Given the description of an element on the screen output the (x, y) to click on. 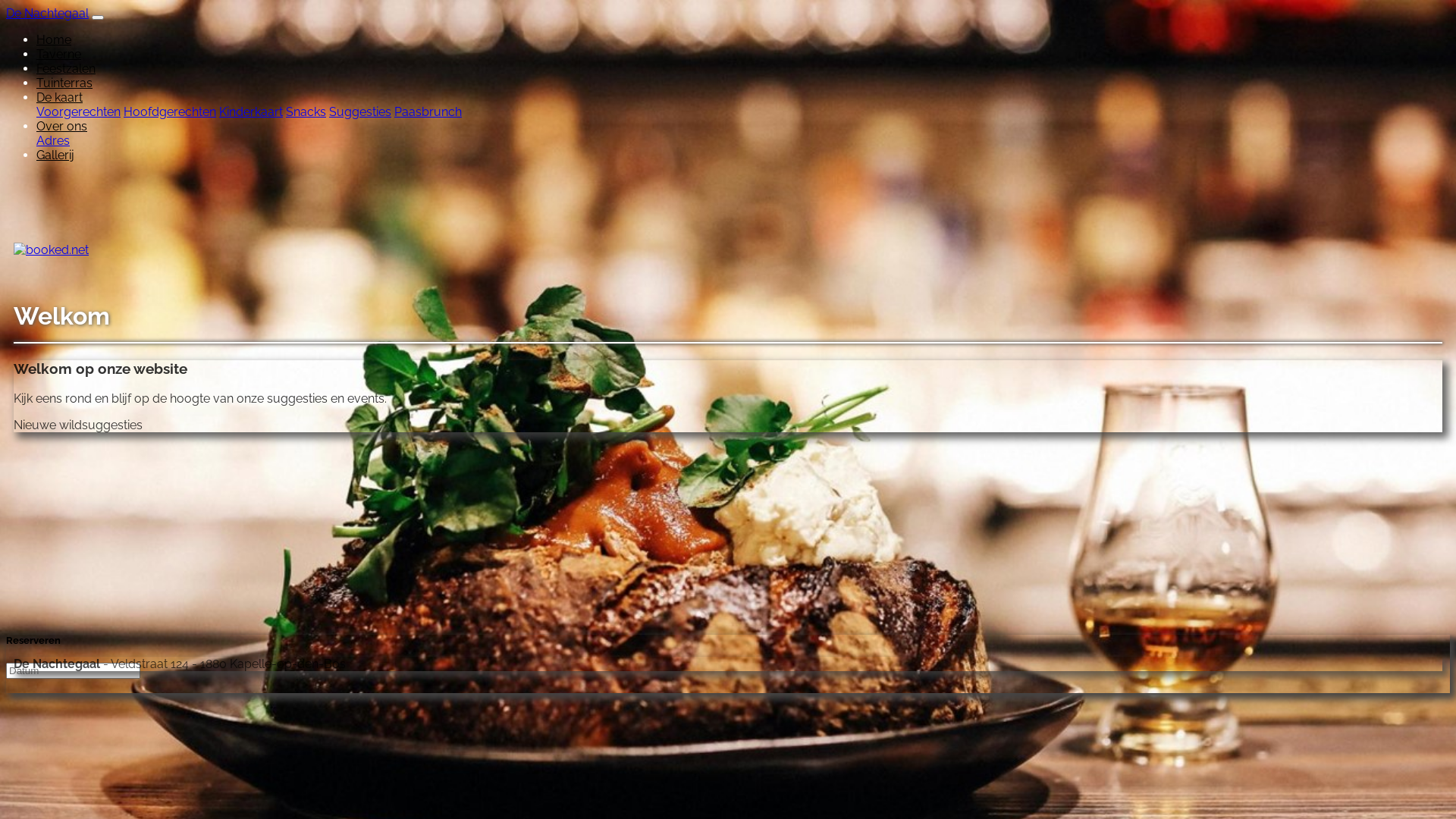
Advertisement Element type: hover (468, 550)
Tuinterras Element type: text (64, 82)
Feestzalen Element type: text (65, 68)
Paasbrunch Element type: text (427, 111)
De Nachtegaal Element type: text (47, 13)
Over ons Element type: text (61, 126)
Snacks Element type: text (305, 111)
Voorgerechten Element type: text (78, 111)
Suggesties Element type: text (360, 111)
Adres Element type: text (52, 140)
Taverne Element type: text (58, 54)
Hoofdgerechten Element type: text (169, 111)
Kinderkaart Element type: text (250, 111)
Home Element type: text (53, 39)
De kaart Element type: text (59, 97)
Gallerij Element type: text (55, 154)
